Given the description of an element on the screen output the (x, y) to click on. 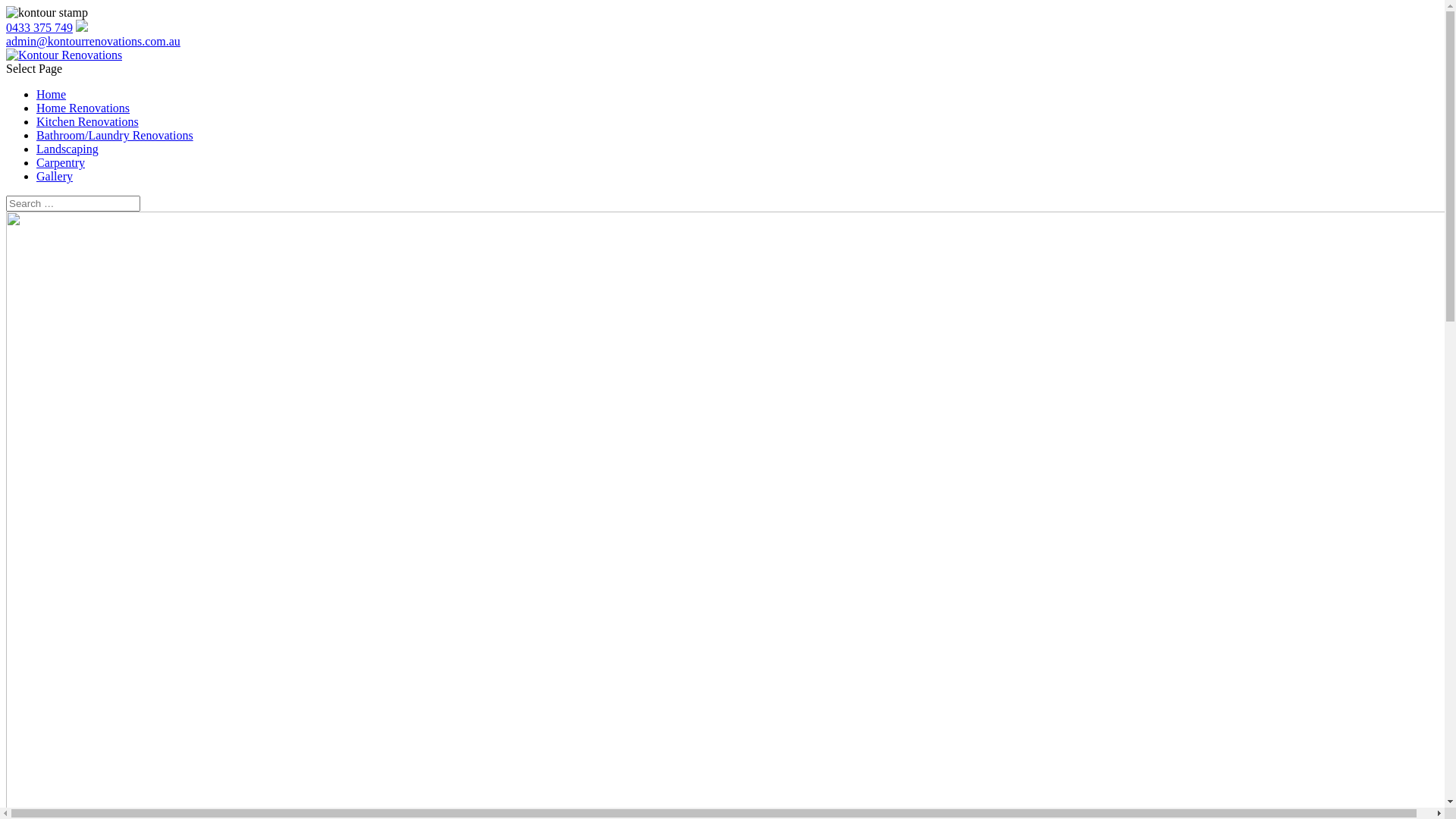
Home Renovations Element type: text (82, 107)
0433 375 749 Element type: text (39, 27)
Bathroom/Laundry Renovations Element type: text (114, 134)
Gallery Element type: text (54, 175)
Carpentry Element type: text (60, 162)
Landscaping Element type: text (67, 148)
Home Element type: text (50, 93)
Search for: Element type: hover (73, 203)
admin@kontourrenovations.com.au Element type: text (93, 40)
Kitchen Renovations Element type: text (87, 121)
